Given the description of an element on the screen output the (x, y) to click on. 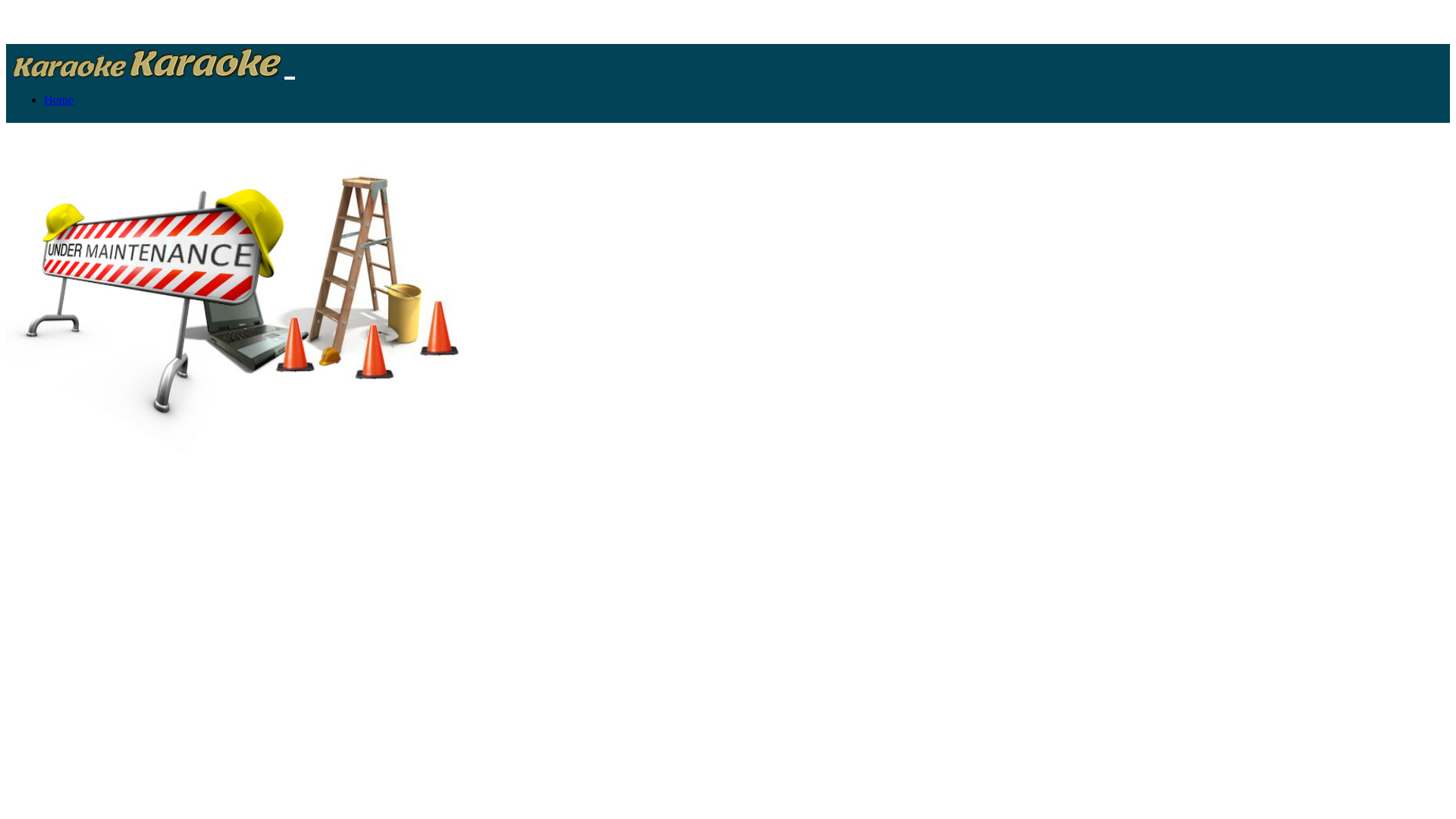
Logo for karaokehost Element type: hover (205, 62)
This page is under maintenance Element type: hover (233, 295)
Logo for karaokehost Element type: hover (69, 66)
Home Element type: text (58, 99)
